Given the description of an element on the screen output the (x, y) to click on. 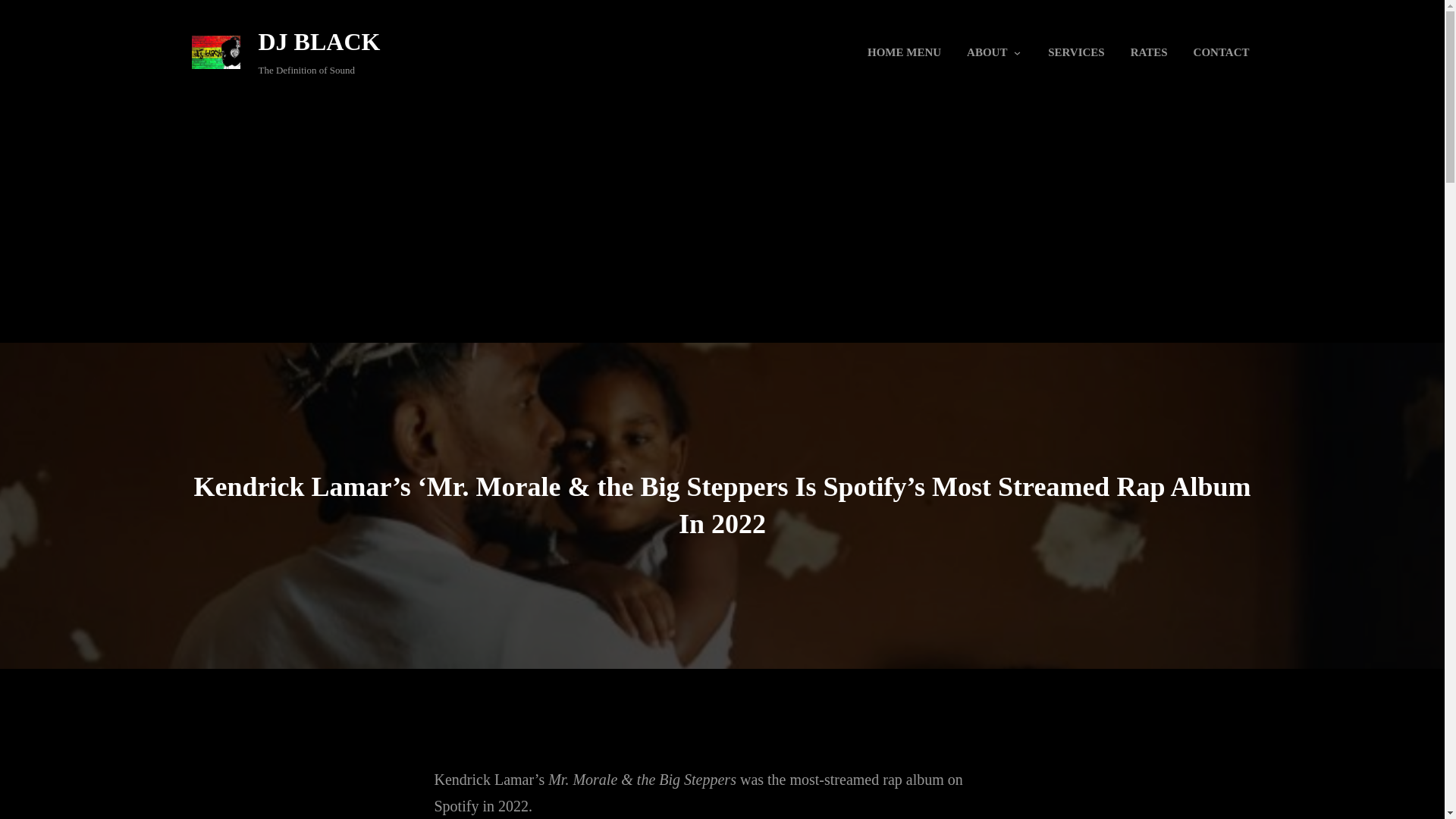
RATES (1149, 52)
ABOUT (986, 52)
CONTACT (1221, 52)
DJ BLACK (318, 41)
SERVICES (1075, 52)
HOME MENU (903, 52)
